Given the description of an element on the screen output the (x, y) to click on. 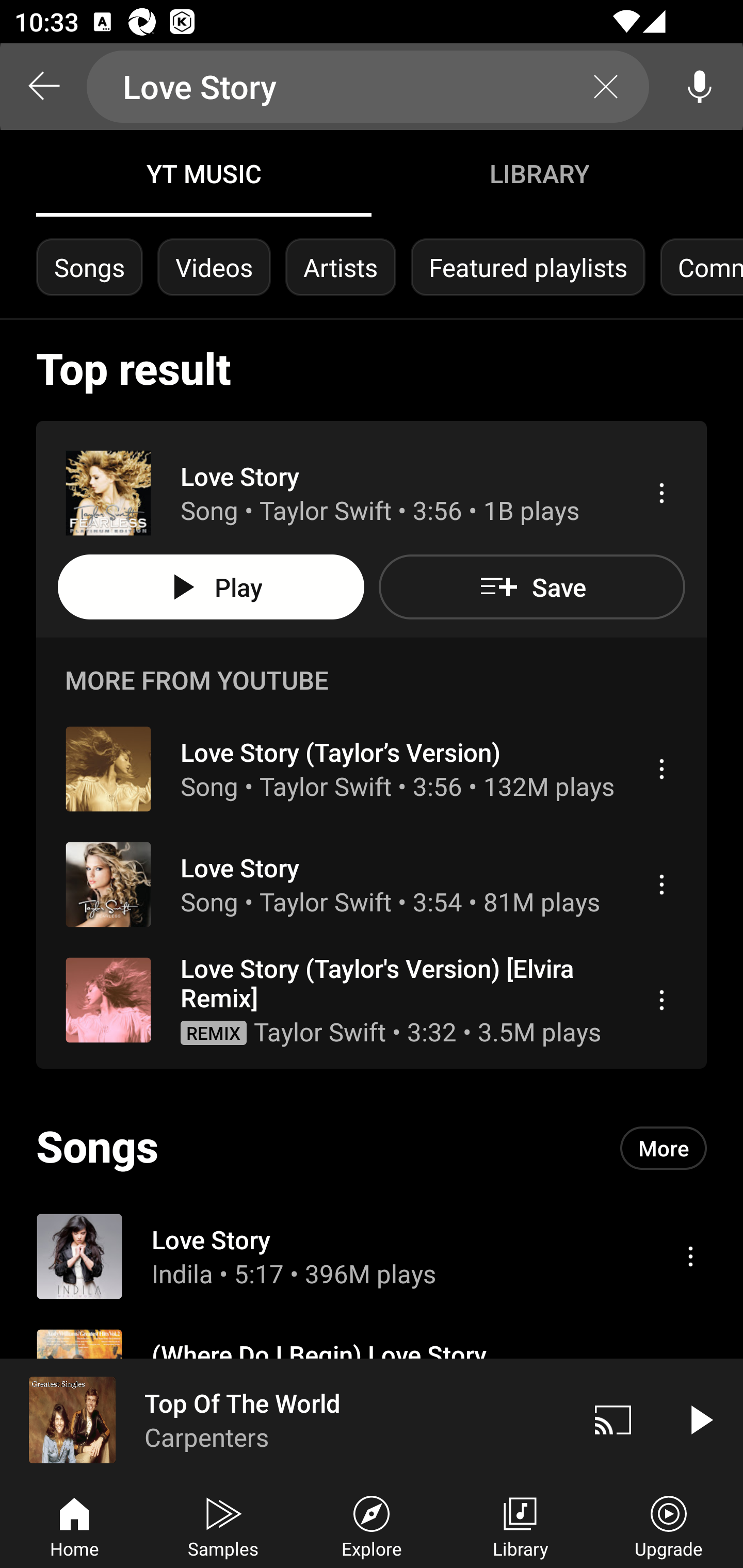
Search back (43, 86)
Love Story (367, 86)
Clear search (605, 86)
Voice search (699, 86)
Library LIBRARY (538, 173)
Menu (661, 492)
Play PLAY ALL (210, 587)
Save Save to playlist (531, 587)
Menu (661, 768)
Menu (661, 884)
Menu (661, 1000)
Songs More More (371, 1147)
More (663, 1147)
Menu (690, 1255)
Top Of The World Carpenters (284, 1419)
Cast. Disconnected (612, 1419)
Play video (699, 1419)
Home (74, 1524)
Samples (222, 1524)
Explore (371, 1524)
Library (519, 1524)
Upgrade (668, 1524)
